Given the description of an element on the screen output the (x, y) to click on. 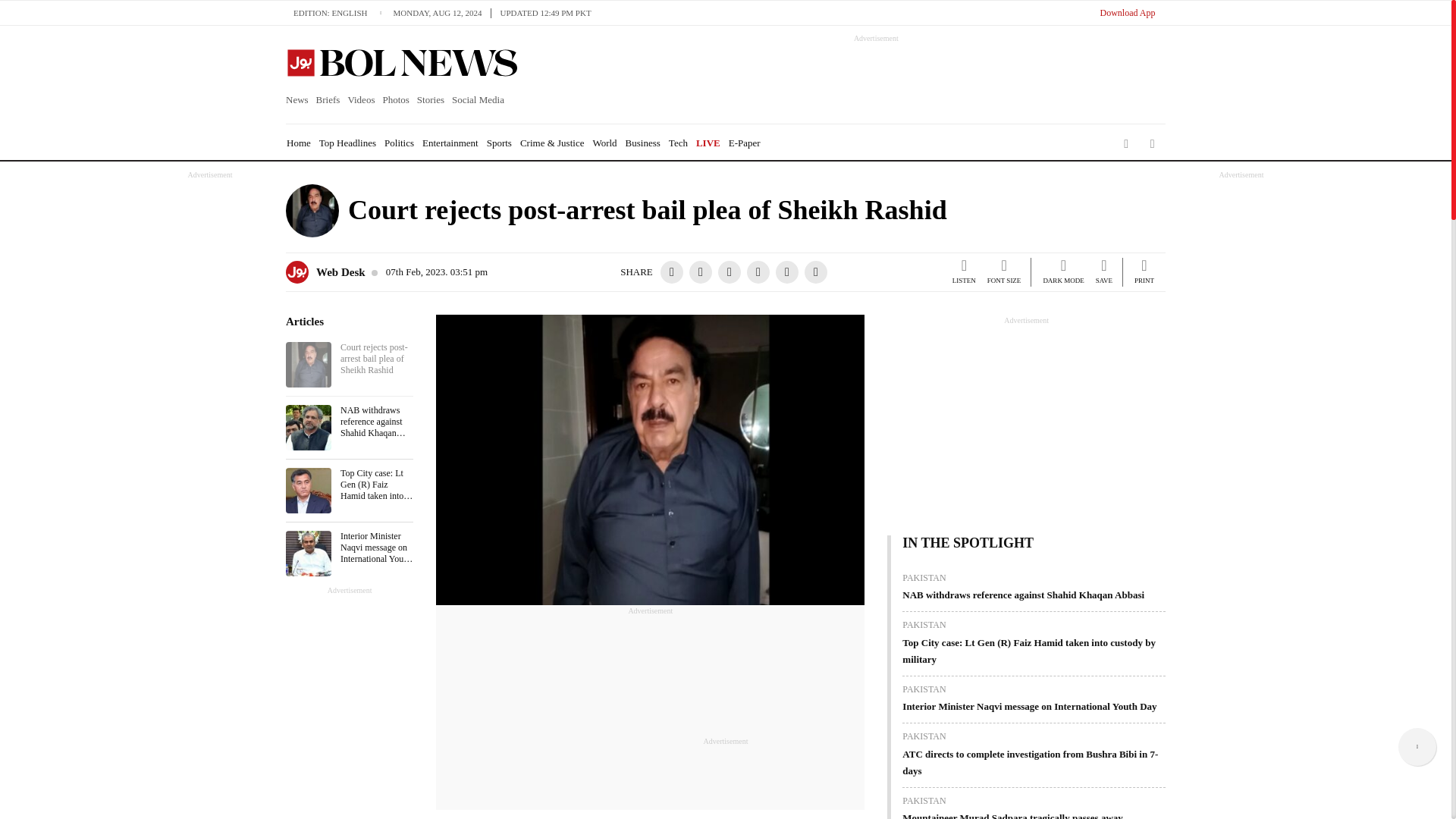
Stories (430, 99)
Photos (395, 99)
Top Headlines (346, 143)
Business (643, 143)
Entertainment (450, 143)
UPDATED 12:49 PM PKT (545, 12)
News (299, 99)
Social Media (478, 99)
Videos (360, 99)
MONDAY, AUG 12, 2024 (441, 12)
